Given the description of an element on the screen output the (x, y) to click on. 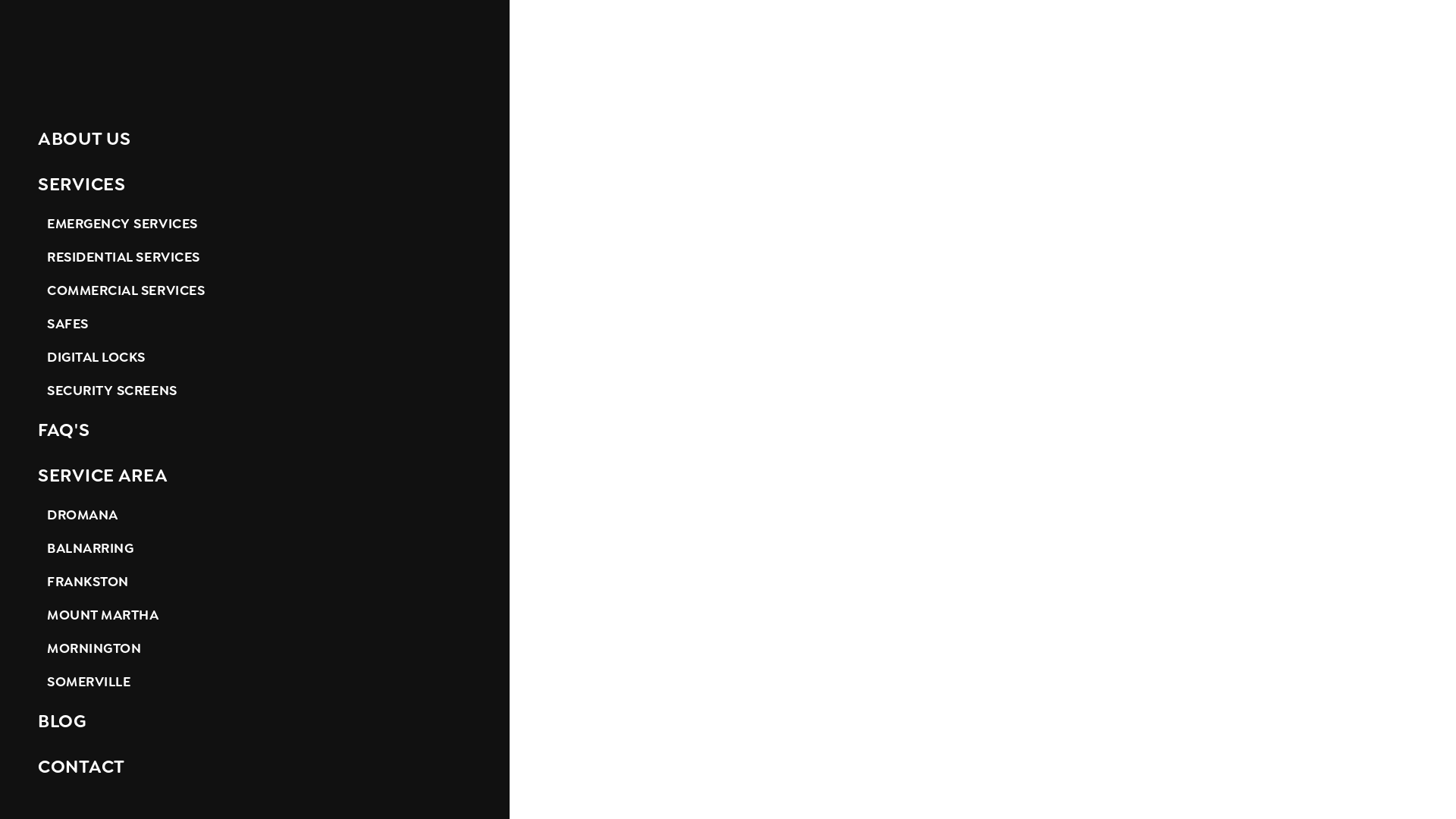
DIGITAL LOCKS Element type: text (254, 356)
RESIDENTIAL SERVICES Element type: text (254, 256)
COMMERCIAL SERVICES Element type: text (254, 290)
MORNINGTON Element type: text (254, 648)
CONTACT Element type: text (254, 766)
SECURITY SCREENS Element type: text (254, 390)
SERVICE AREA Element type: text (254, 475)
MOUNT MARTHA Element type: text (254, 614)
BLOG Element type: text (254, 720)
SAFES Element type: text (254, 323)
SOMERVILLE Element type: text (254, 681)
DROMANA Element type: text (254, 514)
FRANKSTON Element type: text (254, 581)
ABOUT US Element type: text (254, 138)
EMERGENCY SERVICES Element type: text (254, 223)
BALNARRING Element type: text (254, 547)
FAQ'S Element type: text (254, 429)
SERVICES Element type: text (254, 184)
